Given the description of an element on the screen output the (x, y) to click on. 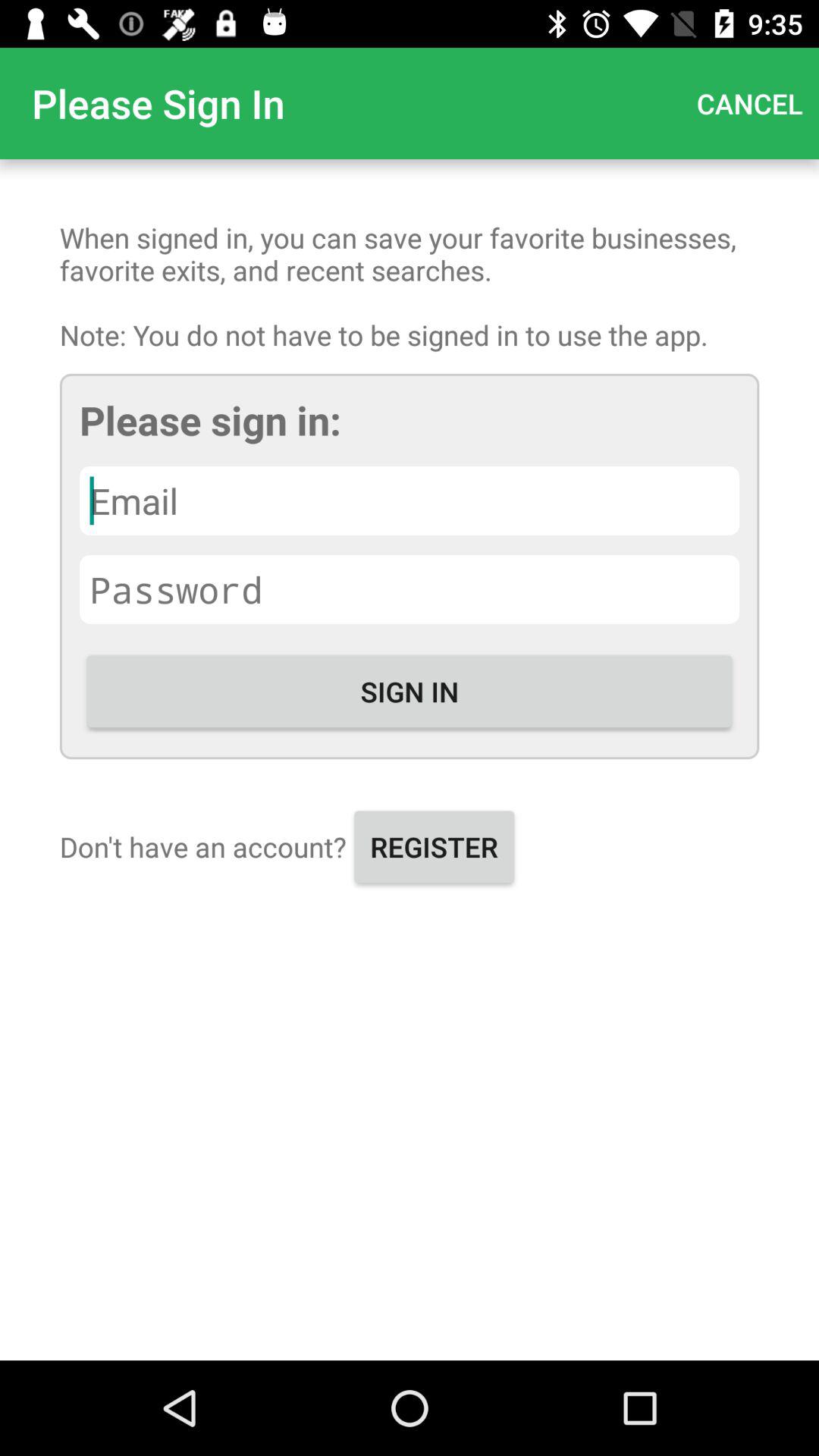
open item to the right of don t have icon (434, 846)
